Given the description of an element on the screen output the (x, y) to click on. 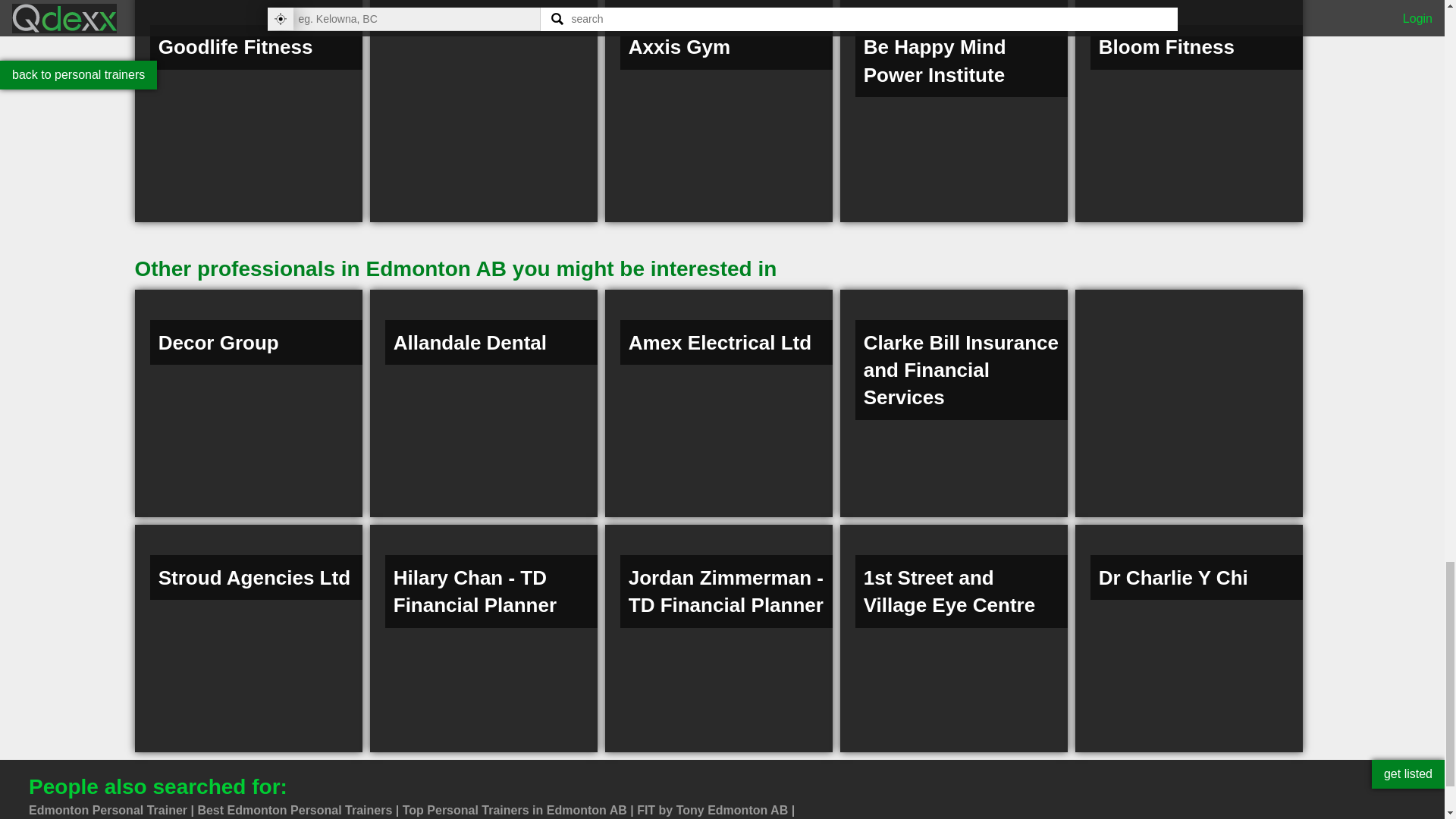
Goodlife Fitness (248, 110)
Jordan Zimmerman - TD Financial Planner (718, 638)
Axxis Gym (718, 110)
Allandale Dental (482, 402)
Stroud Agencies Ltd (248, 638)
Decor Group (248, 402)
Amex Electrical Ltd (718, 402)
Clarke Bill Insurance and Financial Services (953, 402)
1st Street and Village Eye Centre (953, 638)
Be Happy Mind Power Institute (953, 110)
Hilary Chan - TD Financial Planner (482, 638)
Dr Charlie Y Chi (1189, 638)
Bloom Fitness (1189, 110)
